Given the description of an element on the screen output the (x, y) to click on. 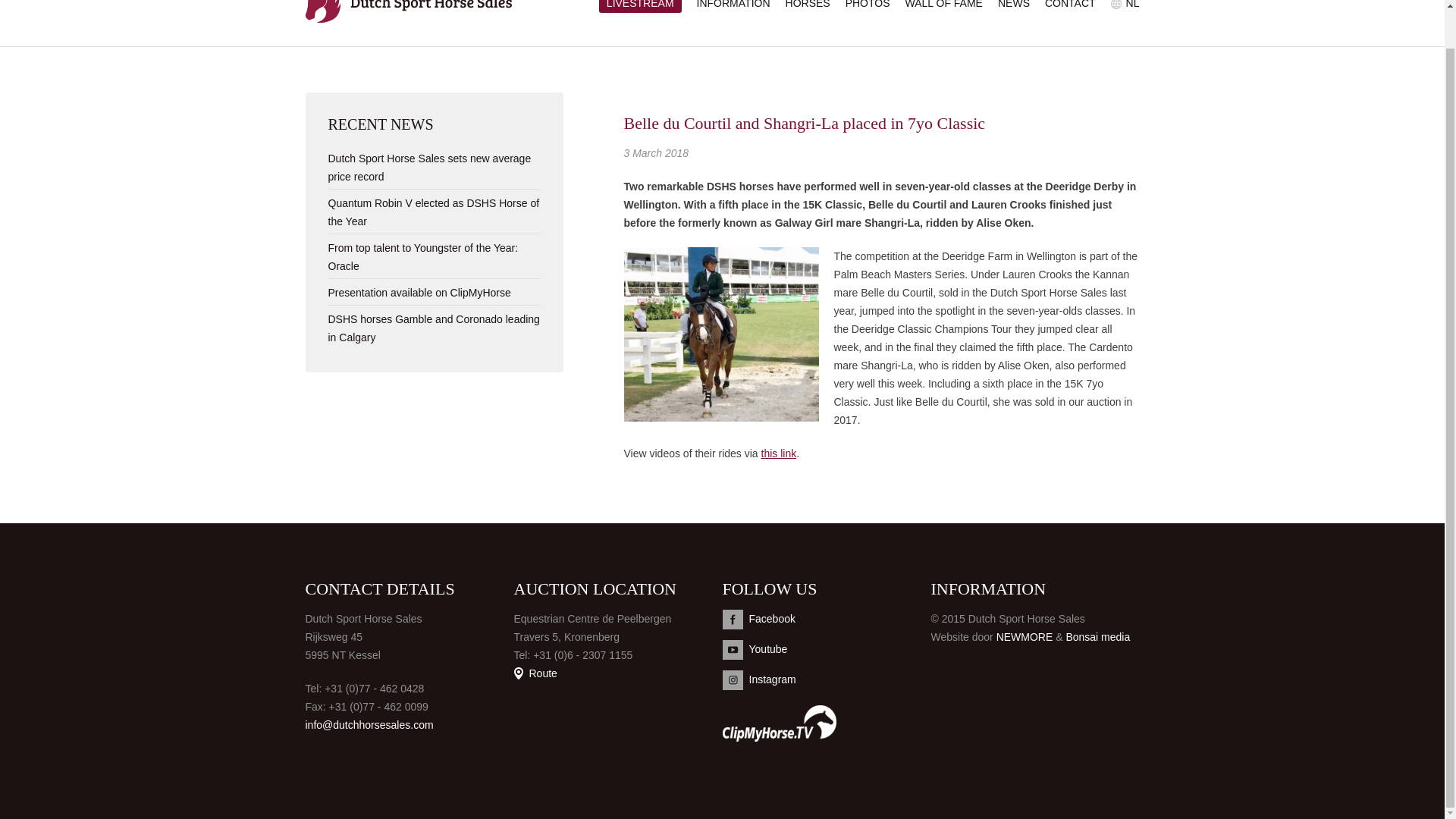
Instagram (826, 680)
Quantum Robin V elected as DSHS Horse of the Year (432, 212)
Youtube (826, 649)
Presentation available on ClipMyHorse (419, 292)
WALL OF FAME (943, 4)
Route (535, 673)
CONTACT (1070, 4)
NL (1132, 4)
Dutch Sport Horse Sales sets new average price record (429, 167)
Facebook (826, 619)
HORSES (807, 4)
LIVESTREAM (639, 6)
From top talent to Youngster of the Year: Oracle (422, 256)
PHOTOS (867, 4)
this link (778, 453)
